Given the description of an element on the screen output the (x, y) to click on. 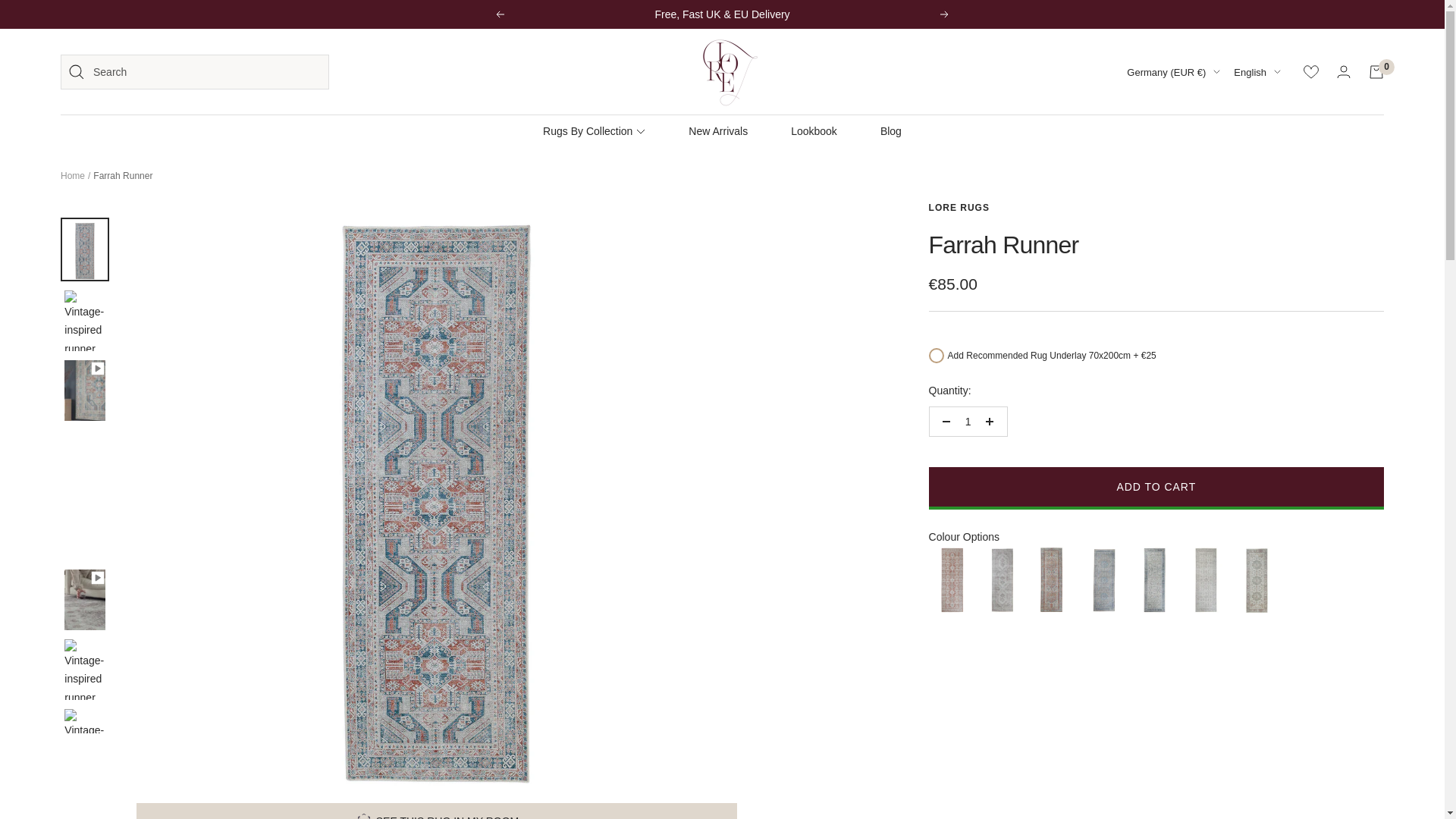
Next (944, 14)
DK (1138, 265)
LT (1138, 502)
IE (1138, 430)
DE (1138, 360)
HR (1138, 194)
AT (1138, 122)
RO (1138, 644)
CY (1138, 217)
en (1248, 146)
